Given the description of an element on the screen output the (x, y) to click on. 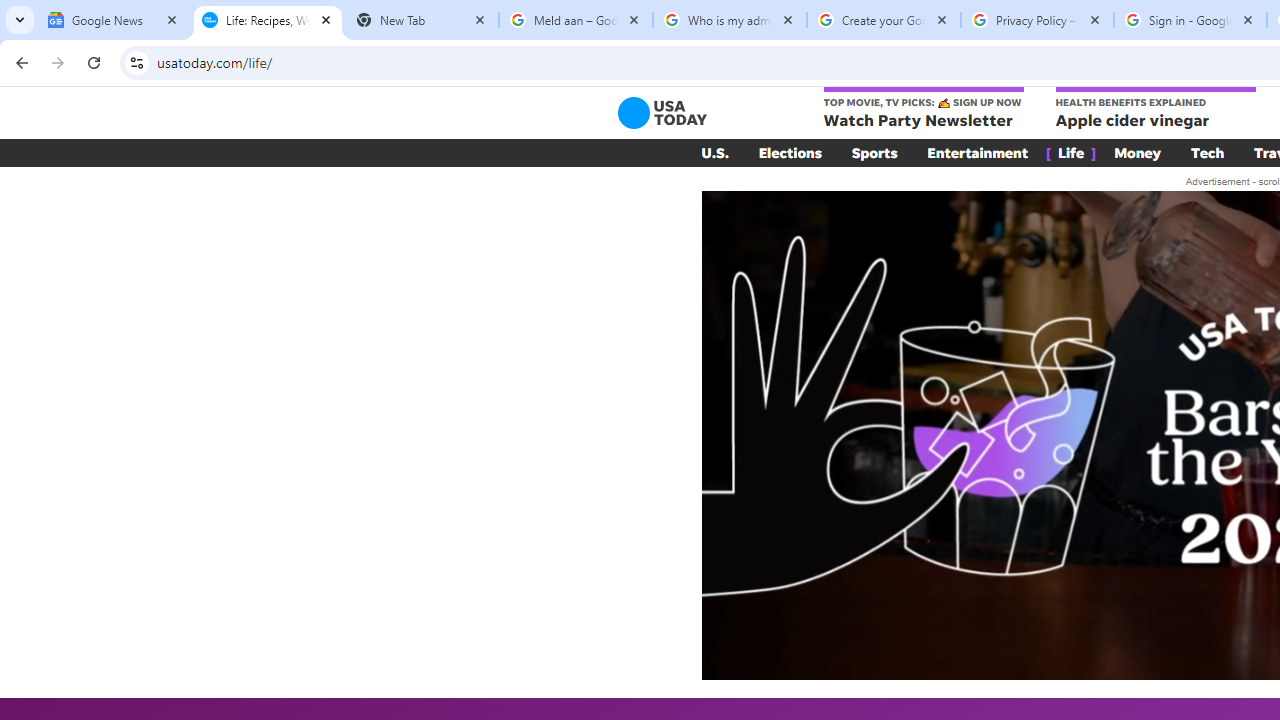
Entertainment (977, 152)
New Tab (421, 20)
Life: Recipes, Wellness & Horoscopes - USA TODAY (267, 20)
[ Life ] (1071, 152)
Money (1137, 152)
Elections (789, 152)
USA TODAY (661, 112)
